Given the description of an element on the screen output the (x, y) to click on. 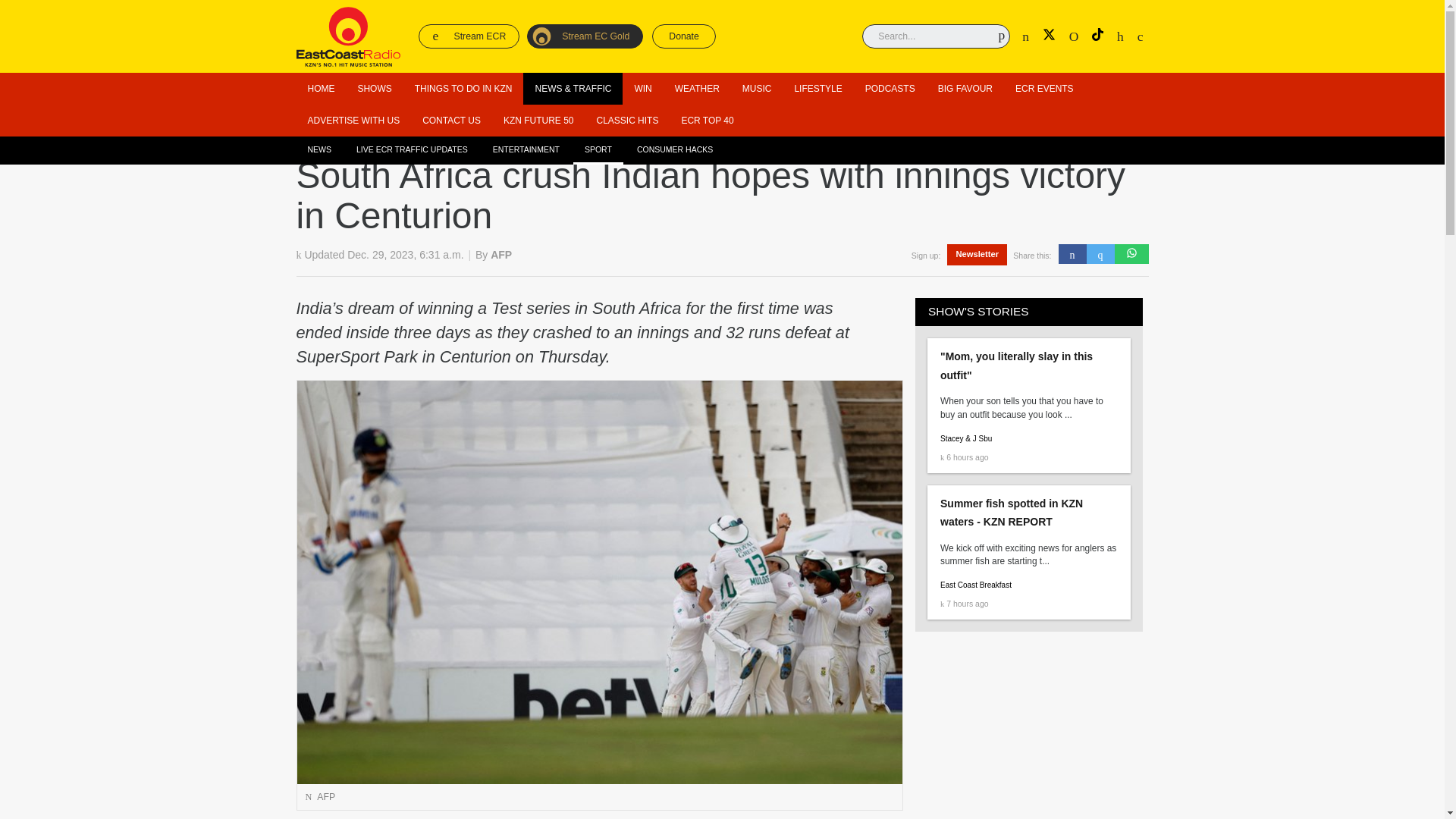
HOME (320, 88)
THINGS TO DO IN KZN (463, 88)
Stream EC Gold (585, 36)
Stream ECR (469, 36)
WIN (642, 88)
Click here to listen live (469, 36)
Click here for East Coast Gold listen live (585, 36)
SHOWS (374, 88)
Search (988, 32)
Search (988, 32)
